Given the description of an element on the screen output the (x, y) to click on. 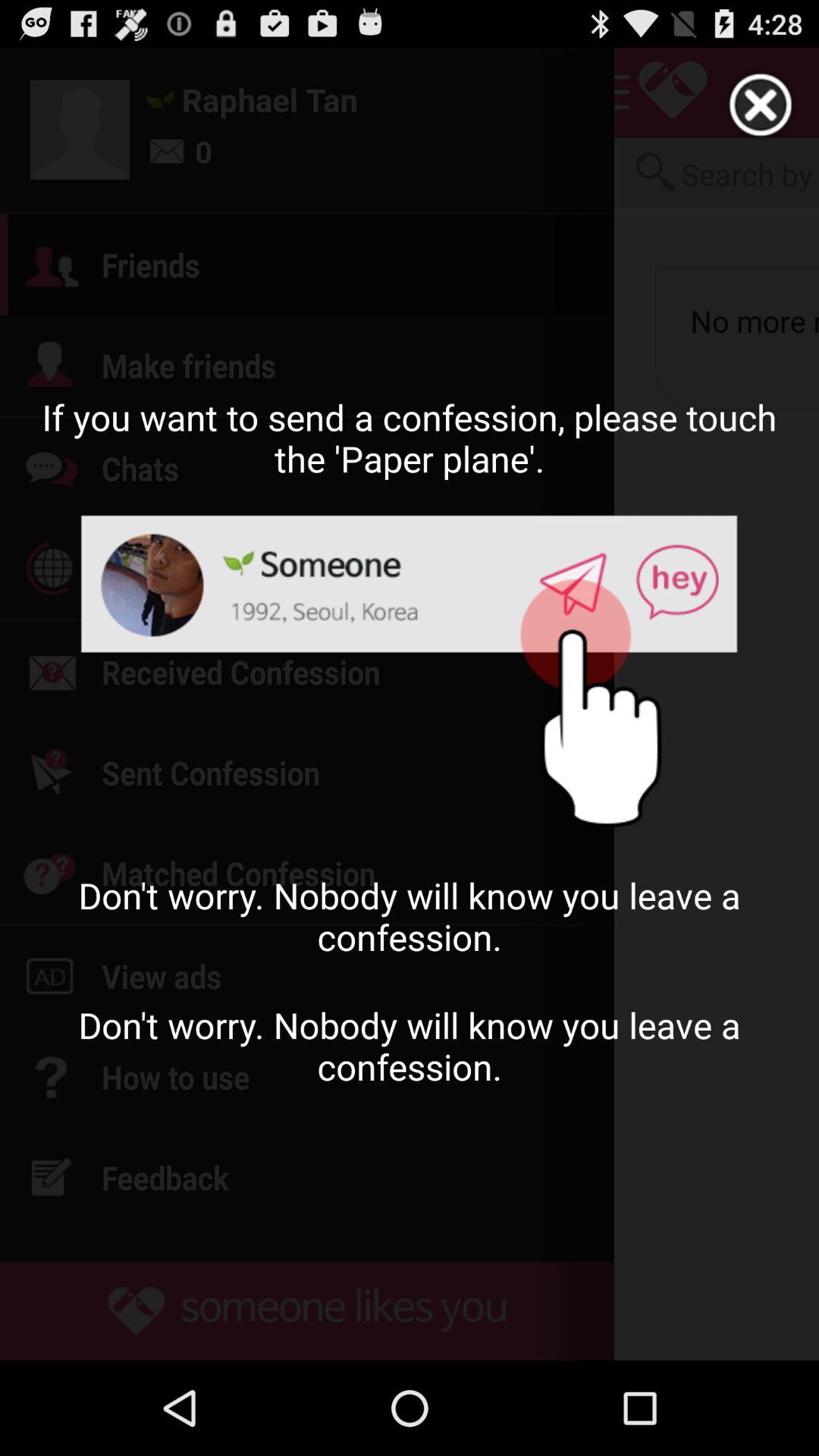
close additional notes (761, 105)
